Given the description of an element on the screen output the (x, y) to click on. 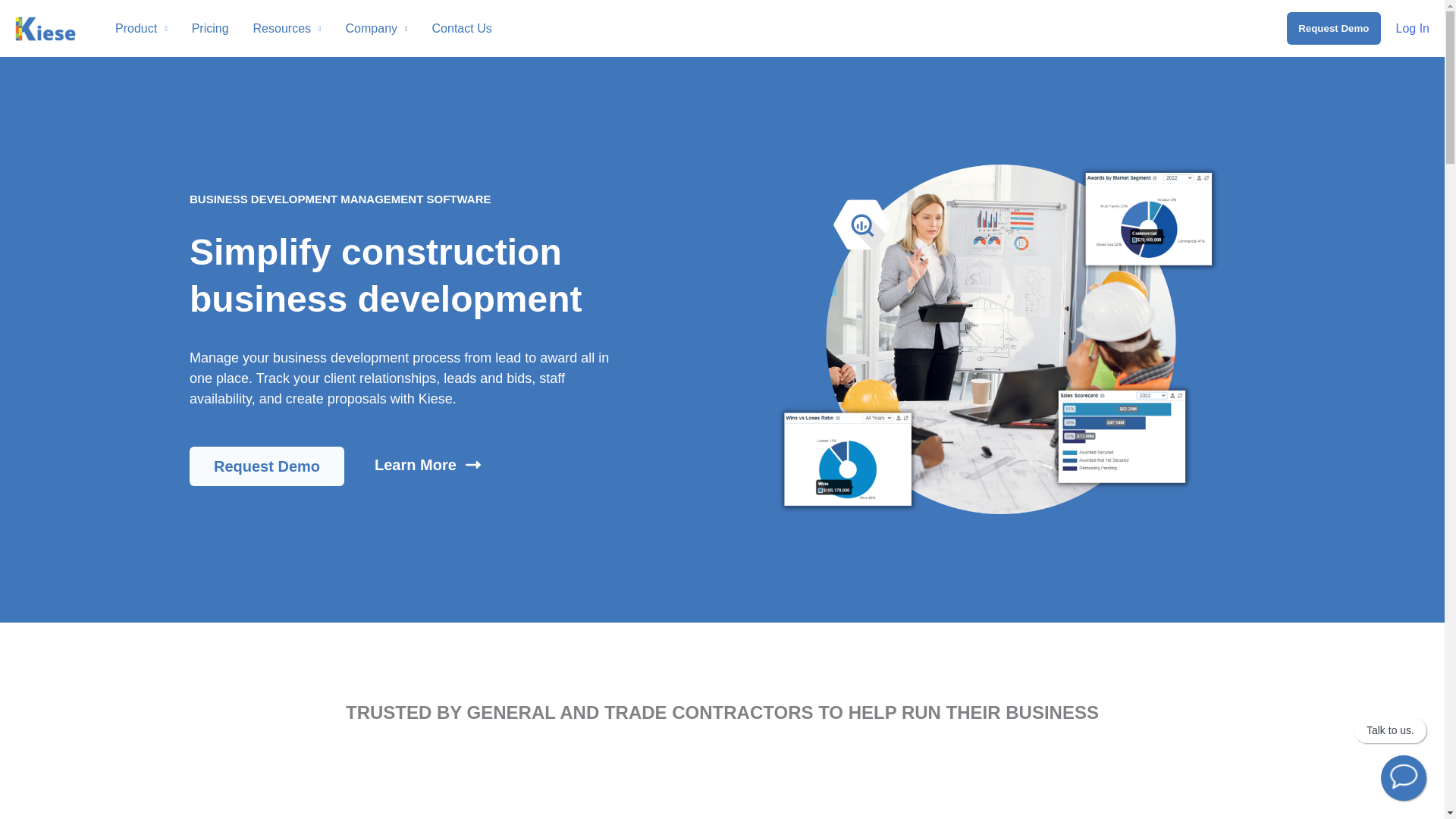
Learn More (427, 465)
Company (376, 28)
Resources (287, 28)
Contact Us (461, 28)
Log In (1412, 29)
Product (141, 28)
Request Demo (1333, 28)
Pricing (210, 28)
Request Demo (266, 466)
